Given the description of an element on the screen output the (x, y) to click on. 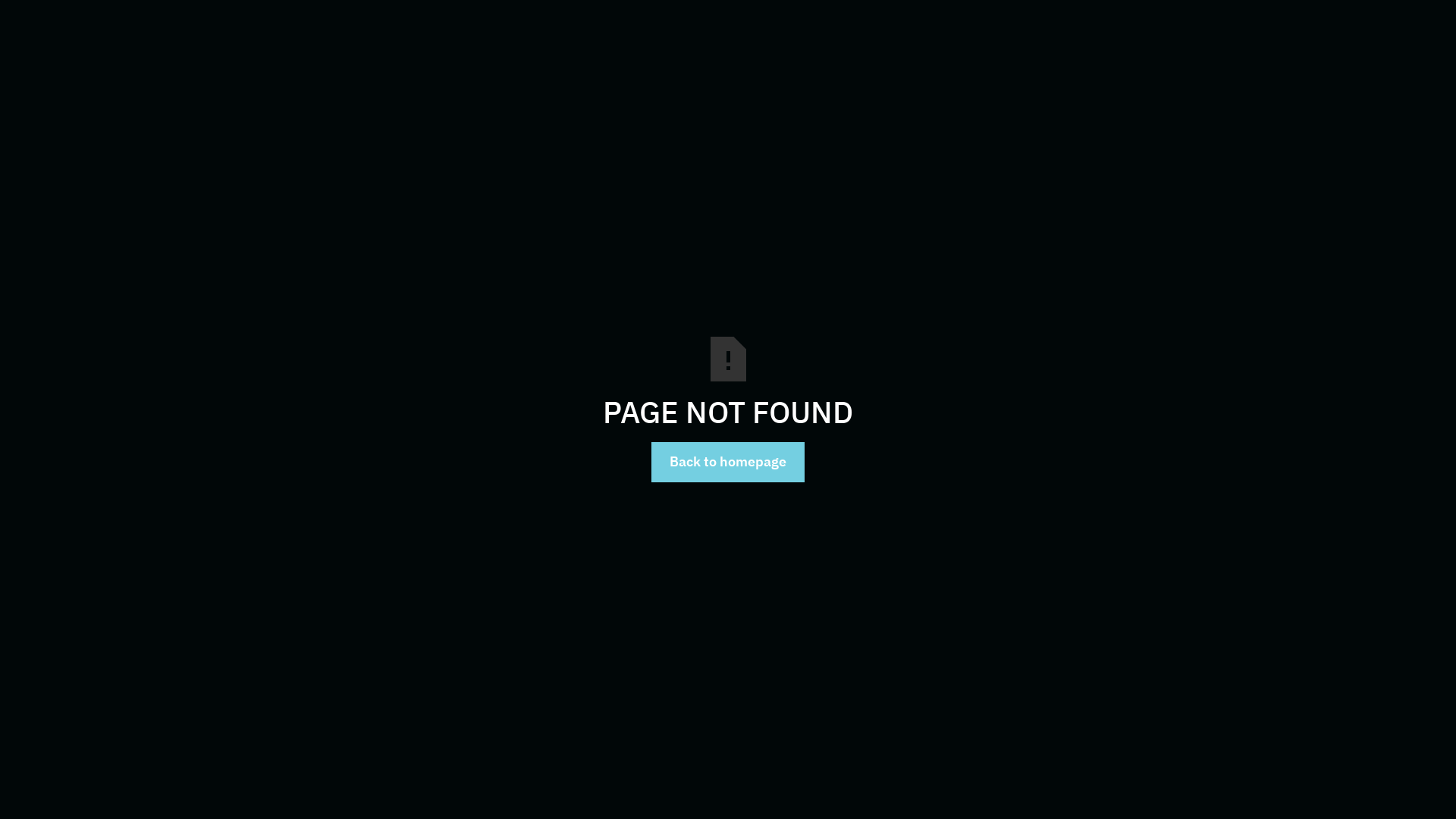
Back to homepage Element type: text (727, 462)
